Given the description of an element on the screen output the (x, y) to click on. 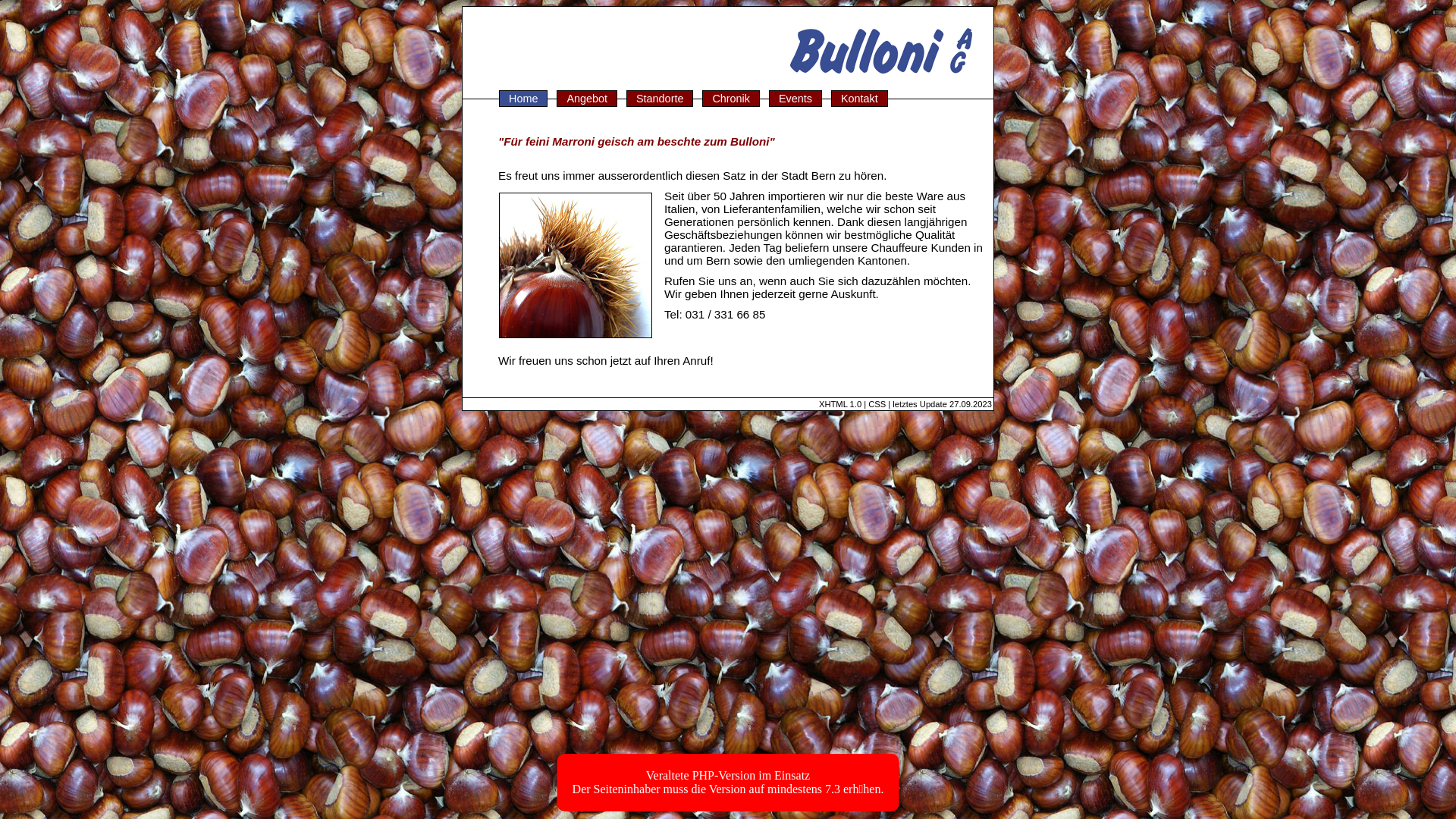
Chronik Element type: text (730, 98)
Kontakt Element type: text (859, 98)
CSS Element type: text (876, 403)
Angebot Element type: text (586, 98)
Events Element type: text (795, 98)
Standorte Element type: text (659, 98)
Home Element type: text (522, 98)
XHTML 1.0 Element type: text (840, 403)
